Given the description of an element on the screen output the (x, y) to click on. 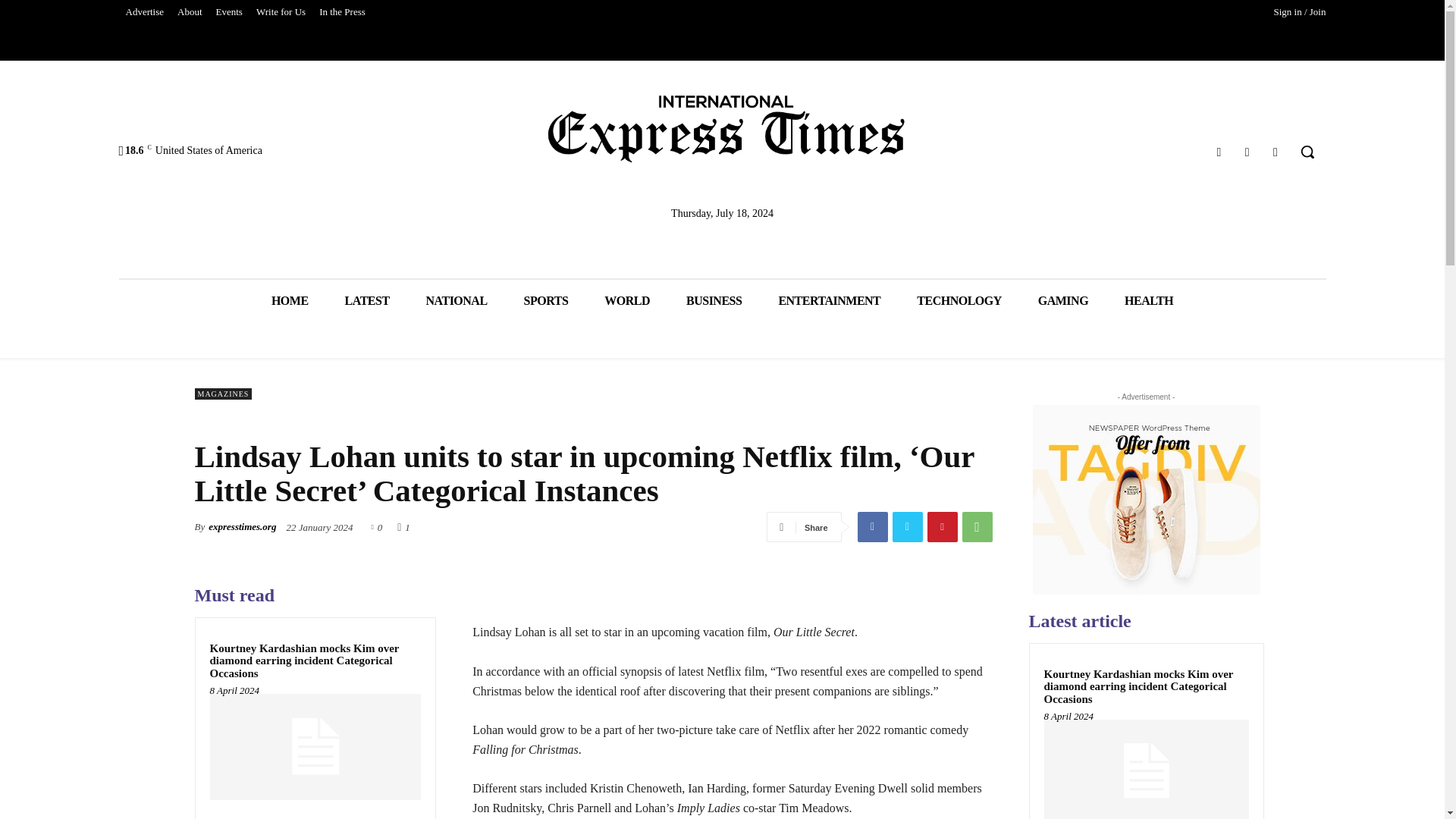
Pinterest (941, 526)
HOME (289, 300)
Facebook (871, 526)
Events (228, 12)
NATIONAL (456, 300)
ENTERTAINMENT (829, 300)
SPORTS (545, 300)
BUSINESS (714, 300)
Write for Us (280, 12)
Facebook (1218, 151)
Advertise (143, 12)
WORLD (627, 300)
